Given the description of an element on the screen output the (x, y) to click on. 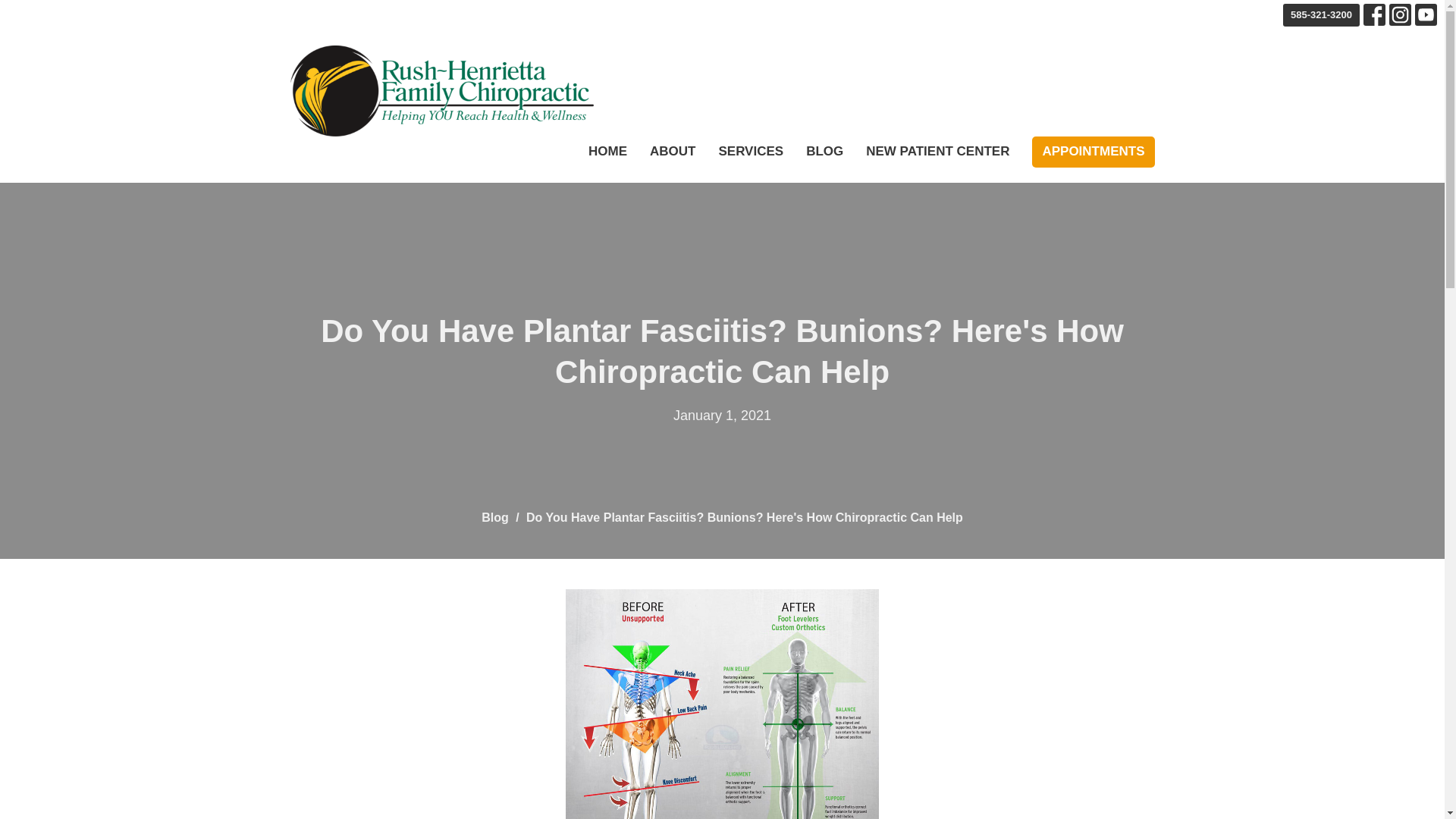
BLOG (824, 151)
APPOINTMENTS (1093, 151)
SERVICES (750, 151)
ABOUT (672, 151)
585-321-3200 (1320, 15)
NEW PATIENT CENTER (937, 151)
Blog (494, 517)
HOME (607, 151)
